Given the description of an element on the screen output the (x, y) to click on. 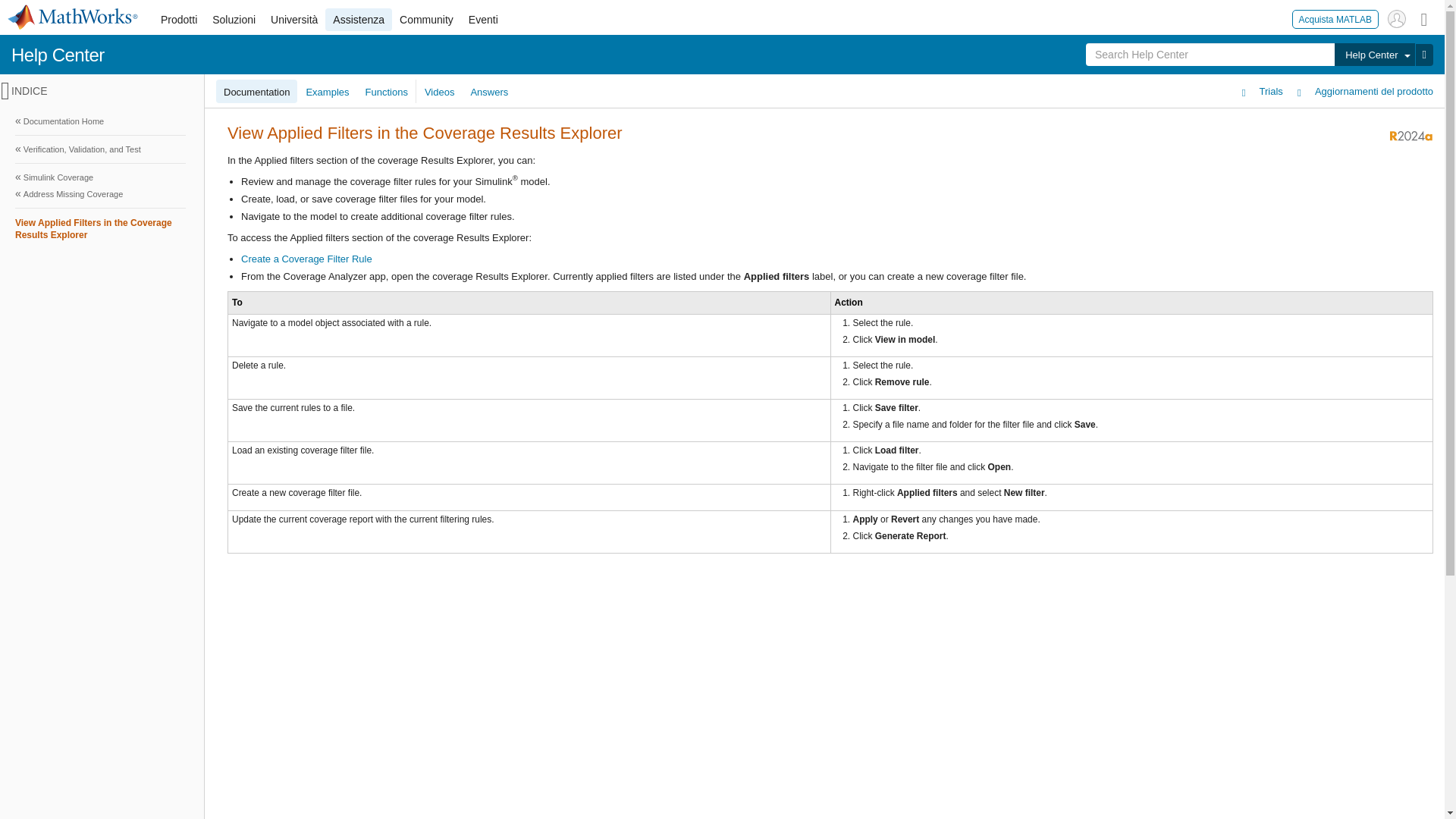
View Applied Filters in the Coverage Results Explorer (100, 228)
Prodotti (178, 19)
Assistenza (357, 19)
Acquista MATLAB (1335, 18)
Community (426, 19)
Matrix Menu (1423, 18)
Soluzioni (234, 19)
Accedere al proprio MathWorks Account (1396, 18)
View Applied Filters in the Coverage Results Explorer (100, 229)
Eventi (483, 19)
